Given the description of an element on the screen output the (x, y) to click on. 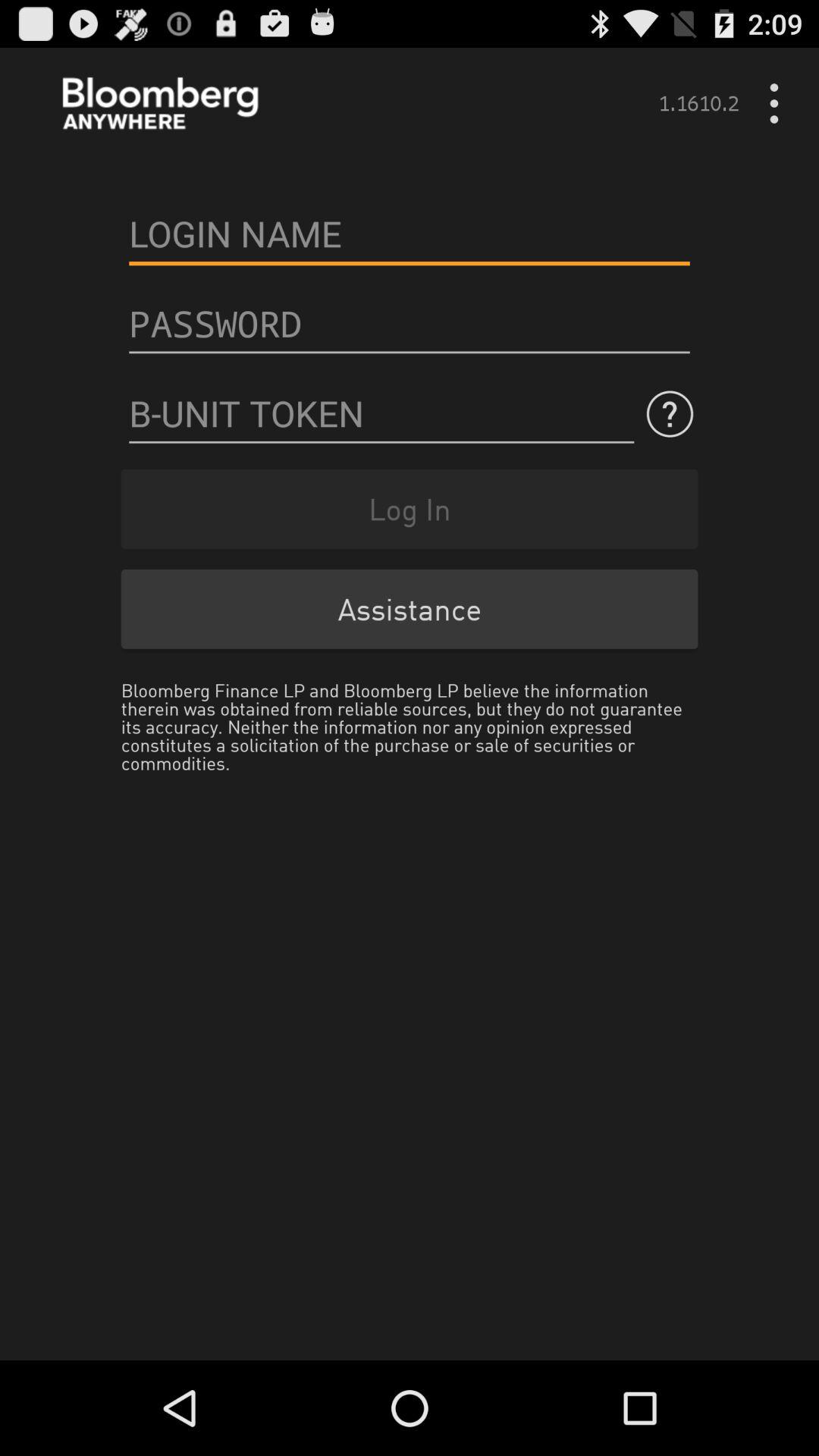
b-unit token (381, 413)
